Given the description of an element on the screen output the (x, y) to click on. 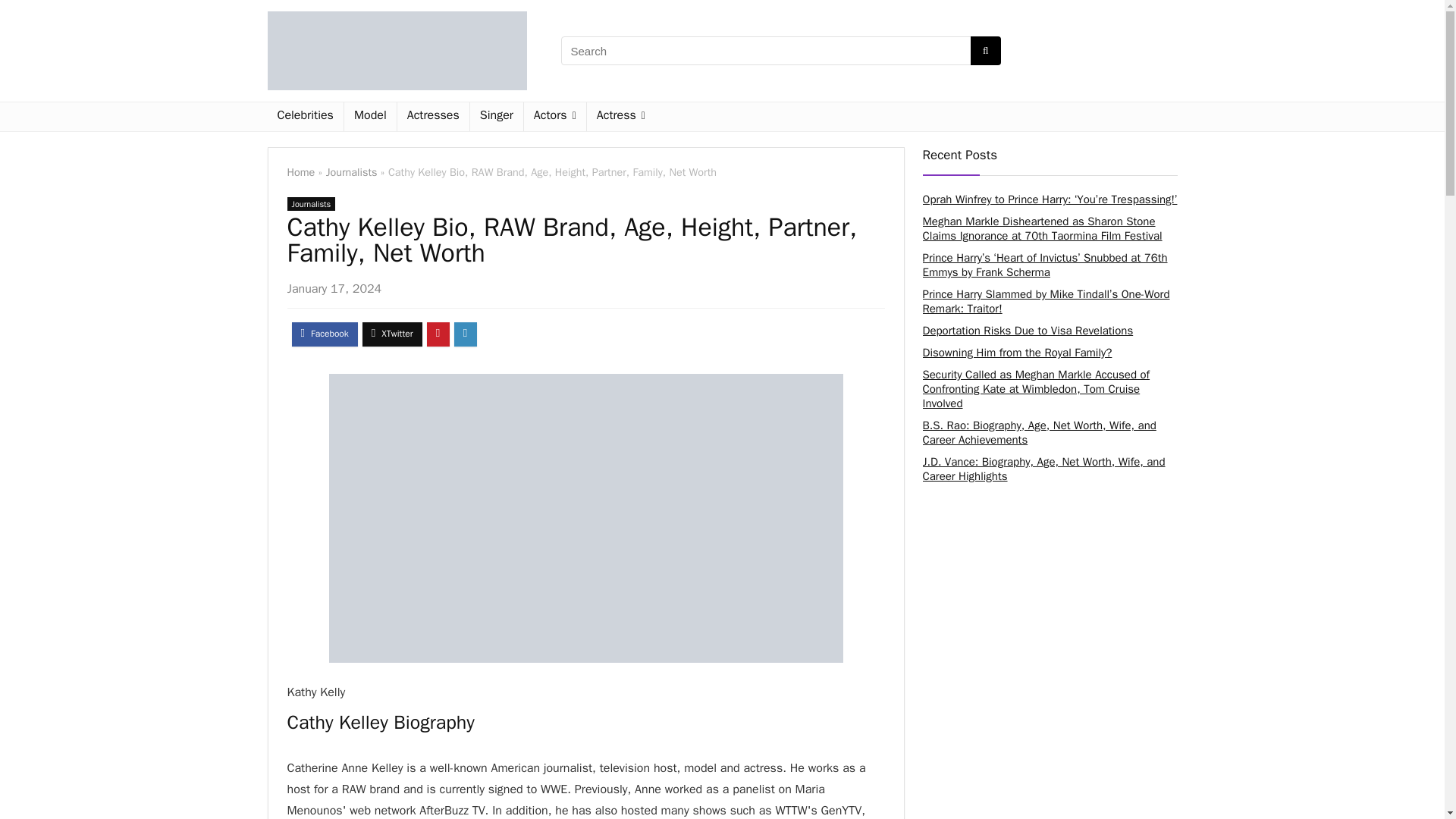
View all posts in Journalists (310, 203)
Deportation Risks Due to Visa Revelations (1026, 330)
Model (369, 116)
Journalists (310, 203)
Actress (620, 116)
Celebrities (304, 116)
Journalists (351, 172)
Home (300, 172)
Actresses (432, 116)
Singer (496, 116)
